Given the description of an element on the screen output the (x, y) to click on. 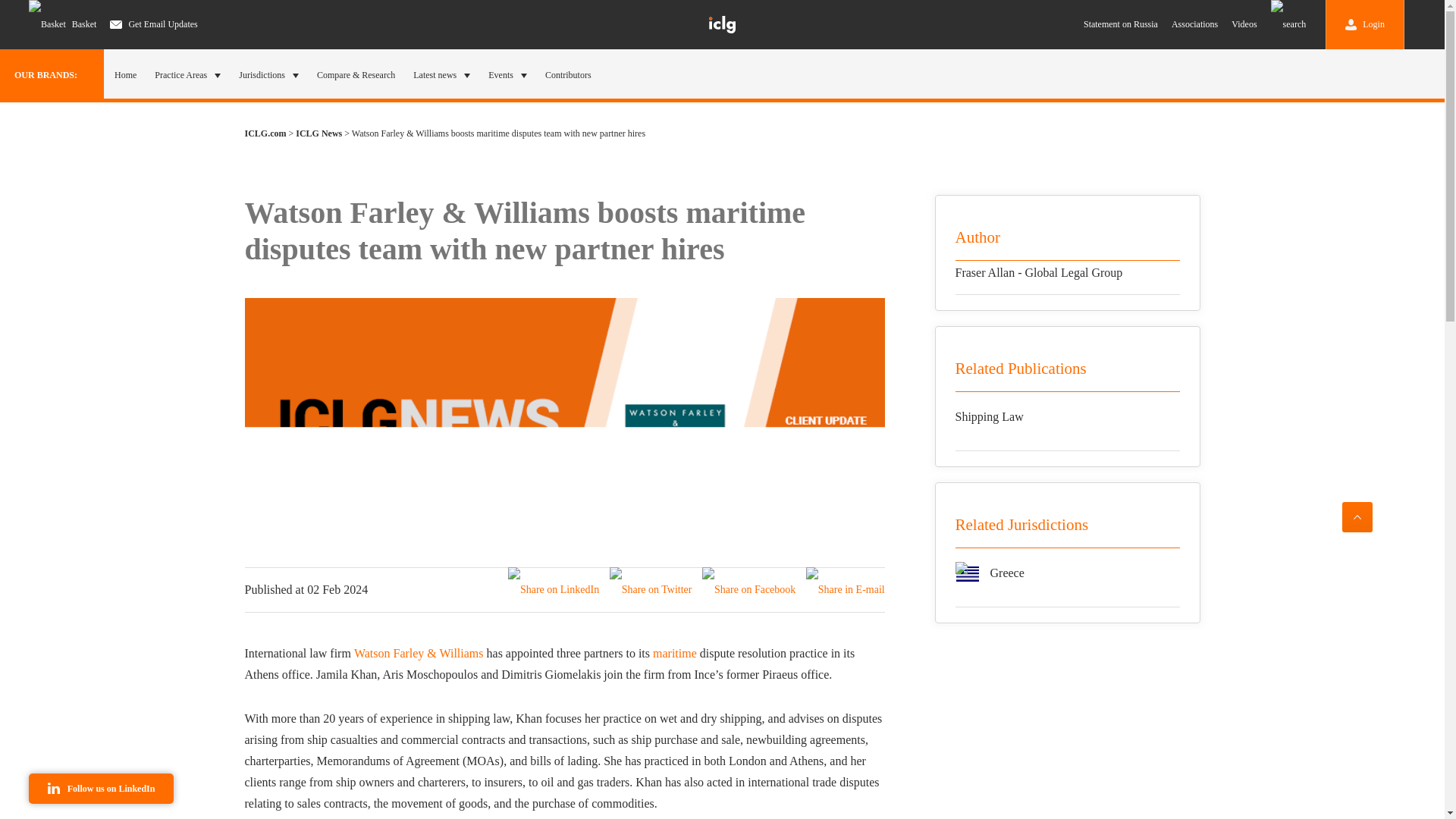
Get Email Updates (153, 24)
Associations (1194, 24)
OUR BRANDS: (51, 74)
Practice Areas (187, 74)
Jurisdictions (268, 74)
Statement on Russia (1120, 24)
Login (1364, 24)
Basket (62, 24)
Latest news (441, 74)
